Given the description of an element on the screen output the (x, y) to click on. 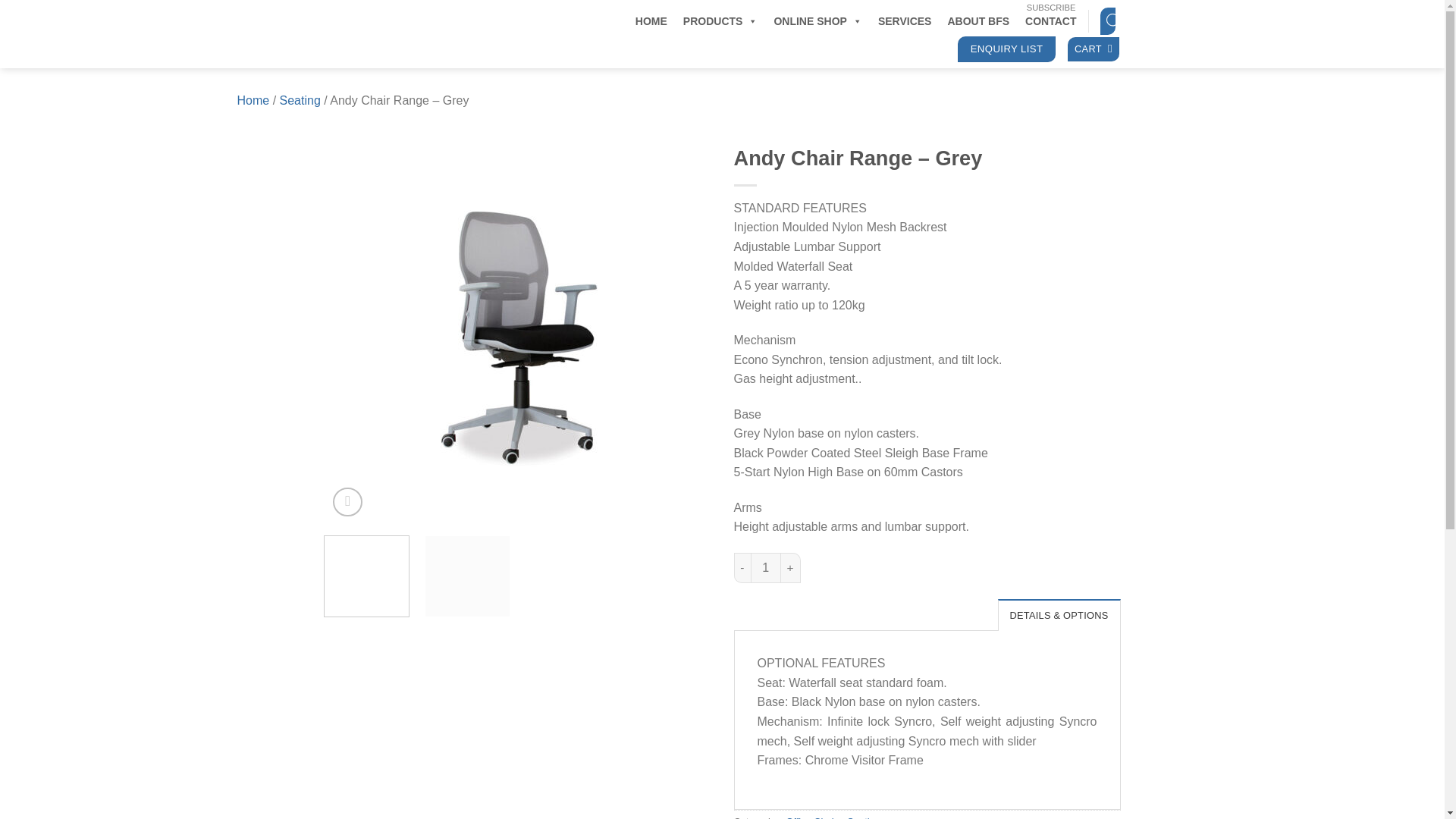
Cart (1093, 49)
HOME (650, 20)
Sign up for Newsletter (1050, 7)
Zoom (347, 501)
SUBSCRIBE (1050, 7)
1 (765, 567)
Business Furniture Solutions - Rent or Buy Office Furniture (418, 33)
PRODUCTS (720, 20)
